Given the description of an element on the screen output the (x, y) to click on. 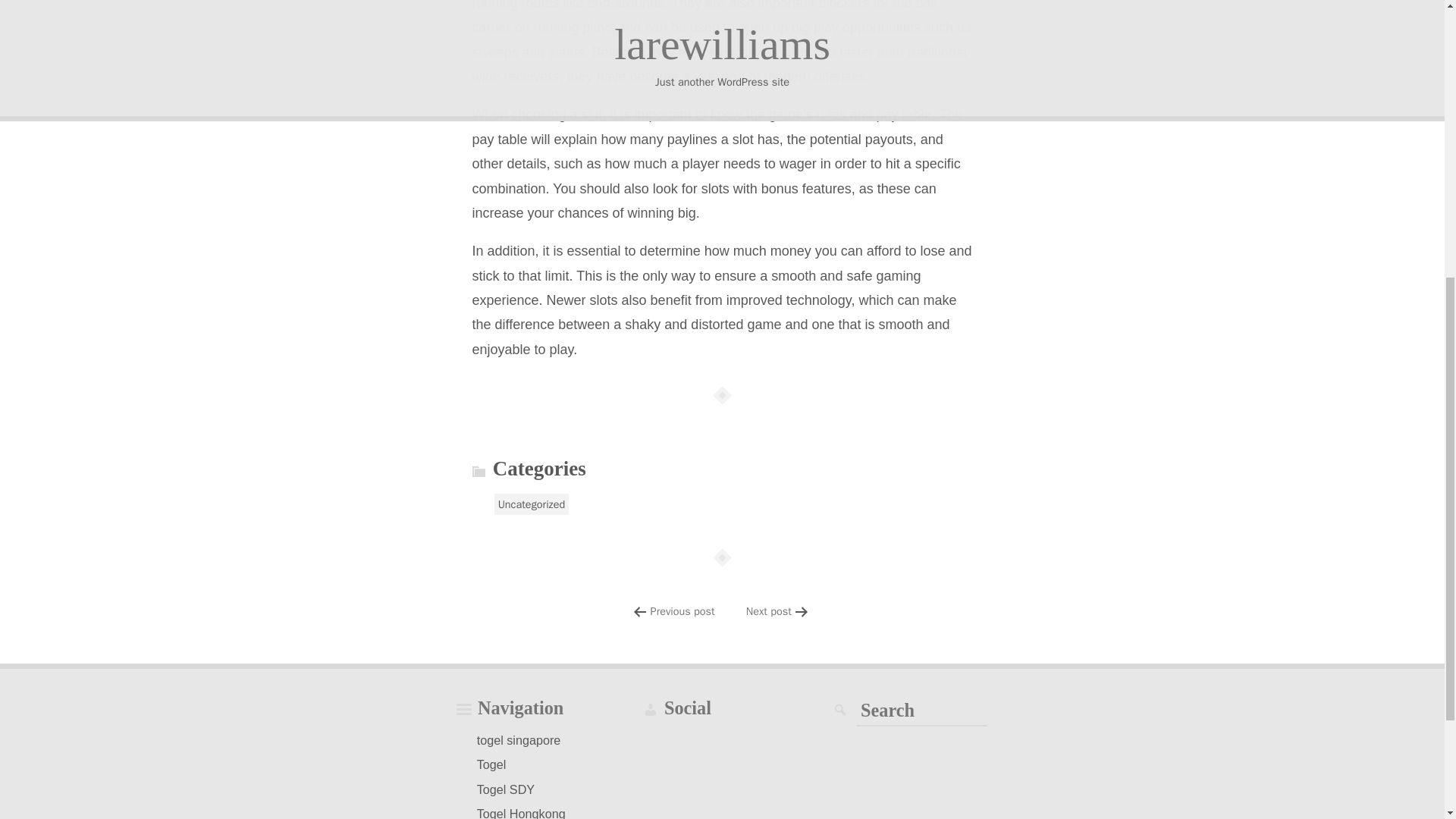
Togel SDY (505, 789)
Uncategorized (532, 504)
Next post (768, 611)
Previous post (682, 611)
togel singapore (518, 740)
Togel (491, 763)
